Given the description of an element on the screen output the (x, y) to click on. 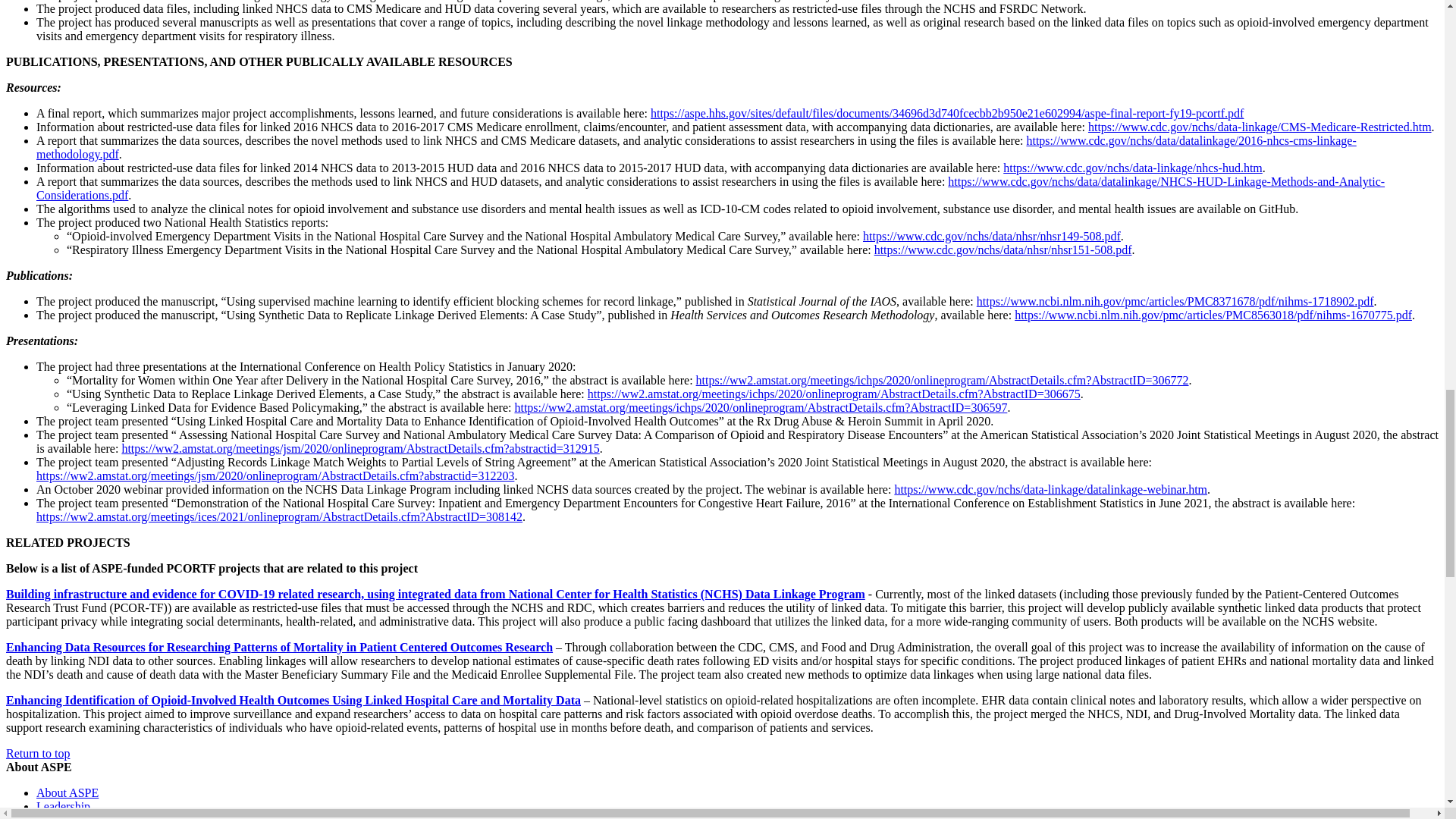
Offices (53, 816)
Return to top (37, 753)
Leadership (63, 806)
About ASPE (67, 792)
